Given the description of an element on the screen output the (x, y) to click on. 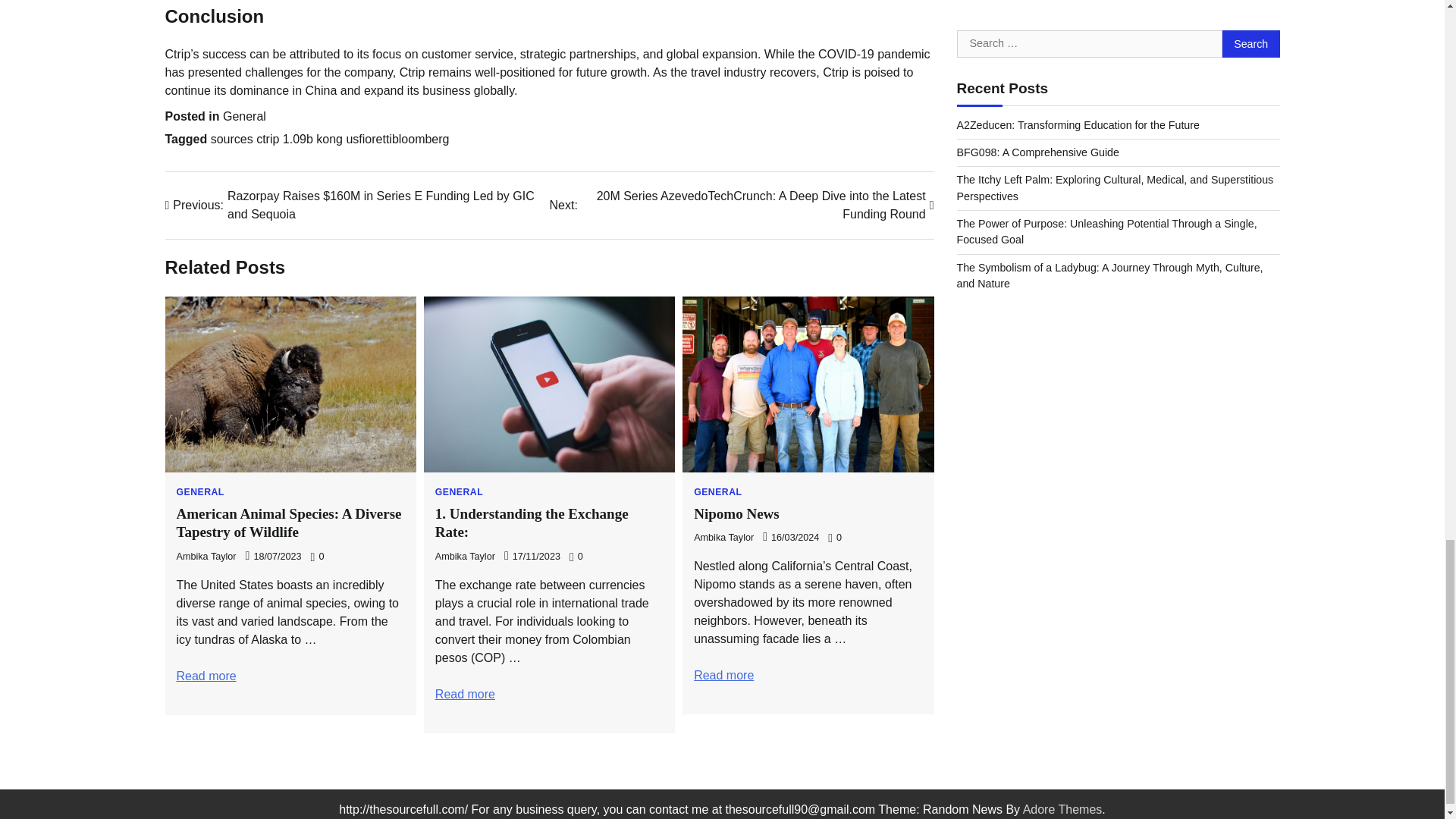
1. Understanding the Exchange Rate: (465, 694)
American Animal Species: A Diverse Tapestry of Wildlife (205, 675)
Nipomo News (724, 675)
